Given the description of an element on the screen output the (x, y) to click on. 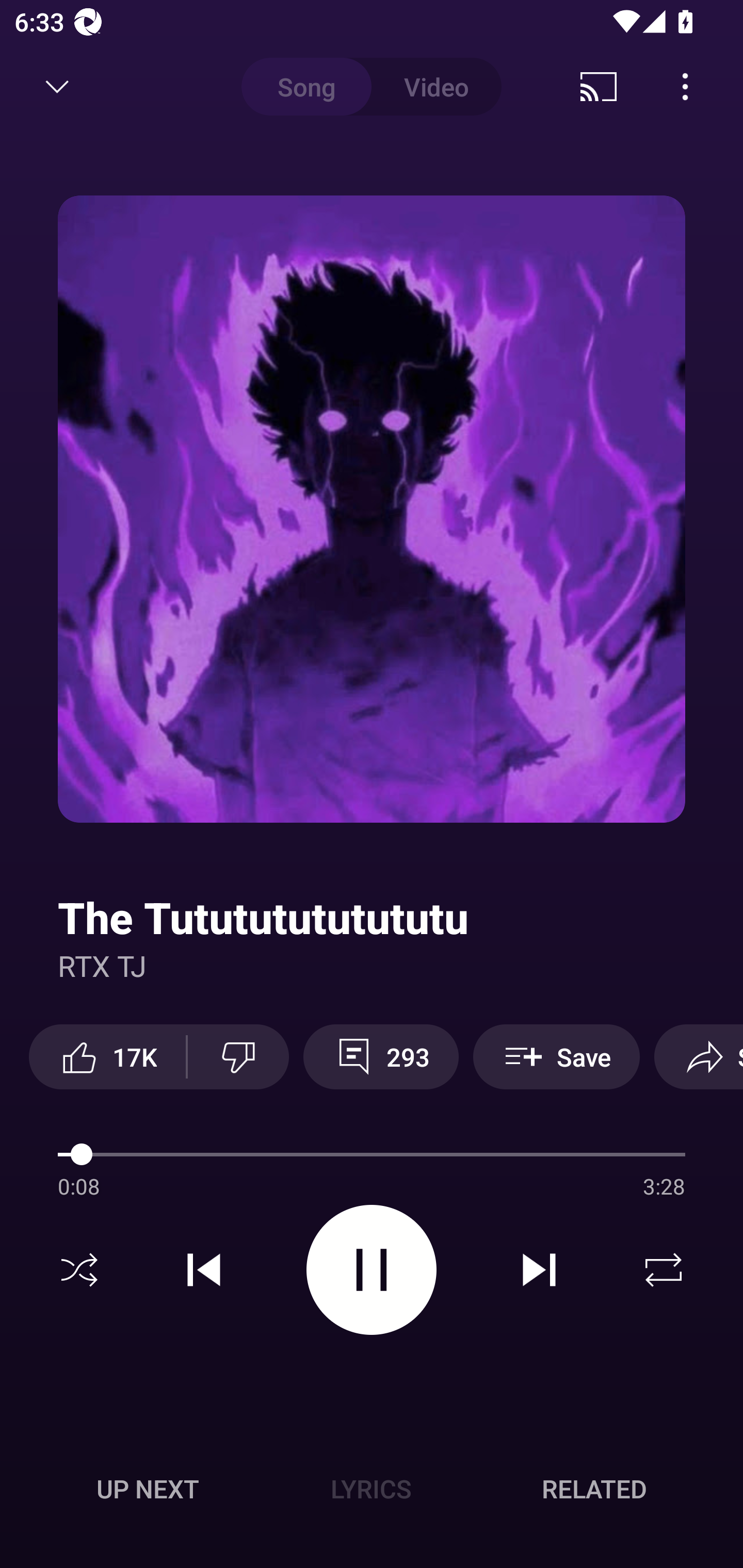
Minimize (57, 86)
Cast. Disconnected (598, 86)
Menu (684, 86)
17K like this video along with 17,363 other people (106, 1056)
Dislike (238, 1056)
293 View 293 comments (380, 1056)
Save Save to playlist (556, 1056)
Share (698, 1056)
Pause video (371, 1269)
Shuffle off (79, 1269)
Previous track (203, 1269)
Next track (538, 1269)
Repeat off (663, 1269)
Up next UP NEXT Lyrics LYRICS Related RELATED (371, 1491)
Lyrics LYRICS (370, 1488)
Related RELATED (594, 1488)
